Given the description of an element on the screen output the (x, y) to click on. 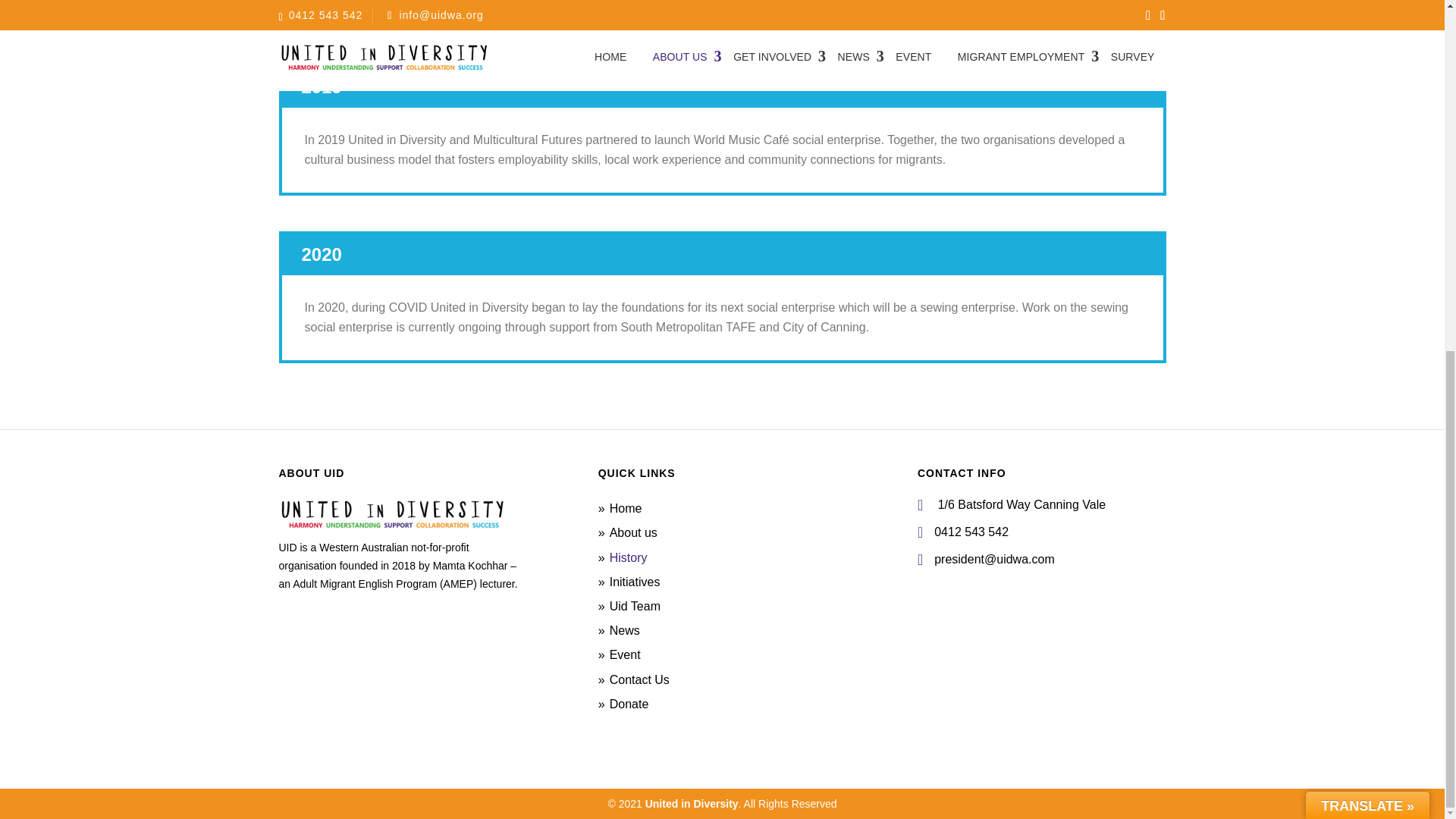
News (625, 630)
Home (626, 508)
History (628, 557)
Uid Team (635, 605)
About us (634, 532)
United in Diversity (691, 803)
Event (625, 654)
Donate (629, 703)
Initiatives (635, 581)
Contact Us (639, 678)
